Given the description of an element on the screen output the (x, y) to click on. 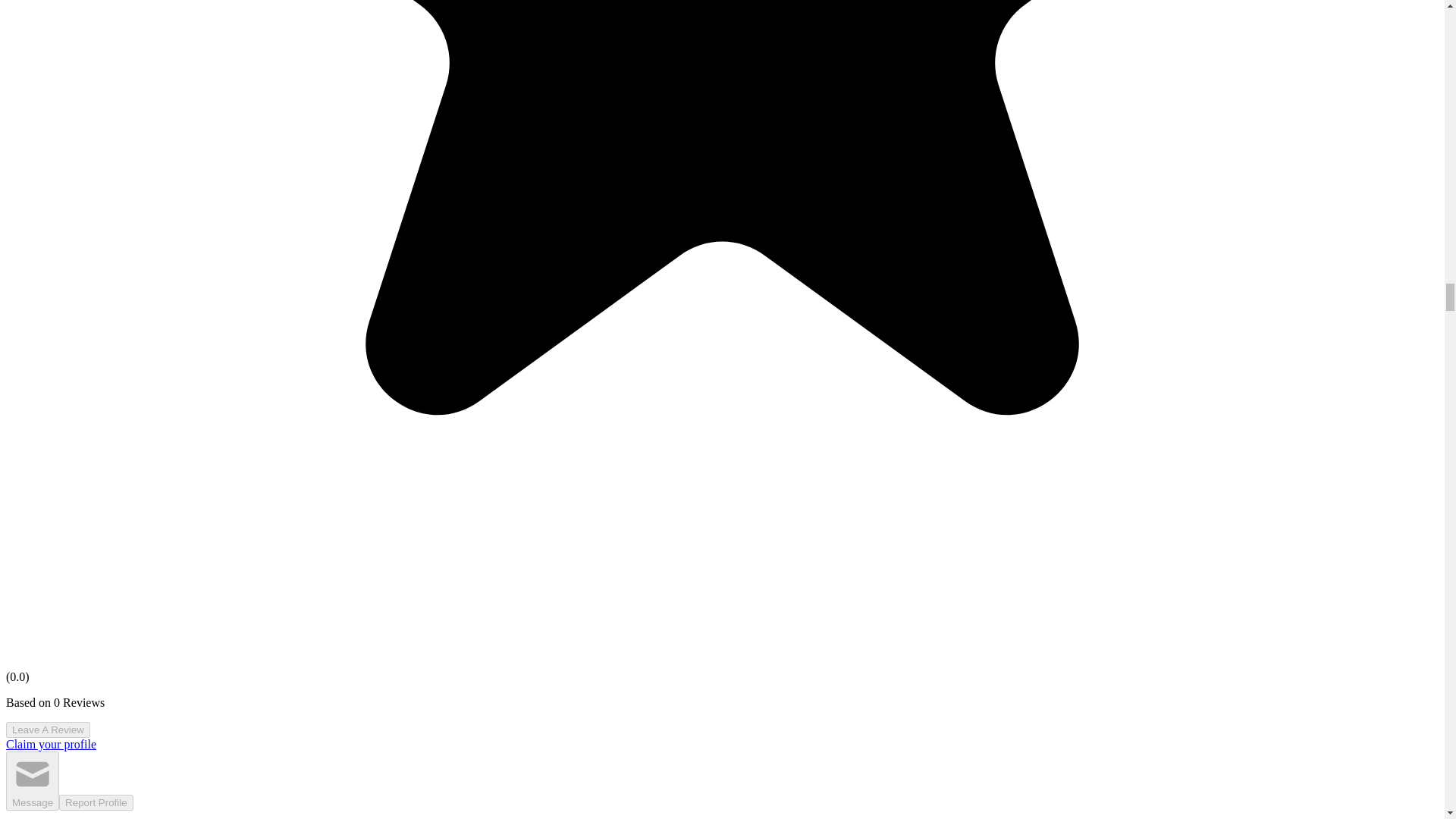
Leave A Review (47, 729)
Claim your profile (50, 744)
Report Profile (96, 802)
Message (32, 780)
